Given the description of an element on the screen output the (x, y) to click on. 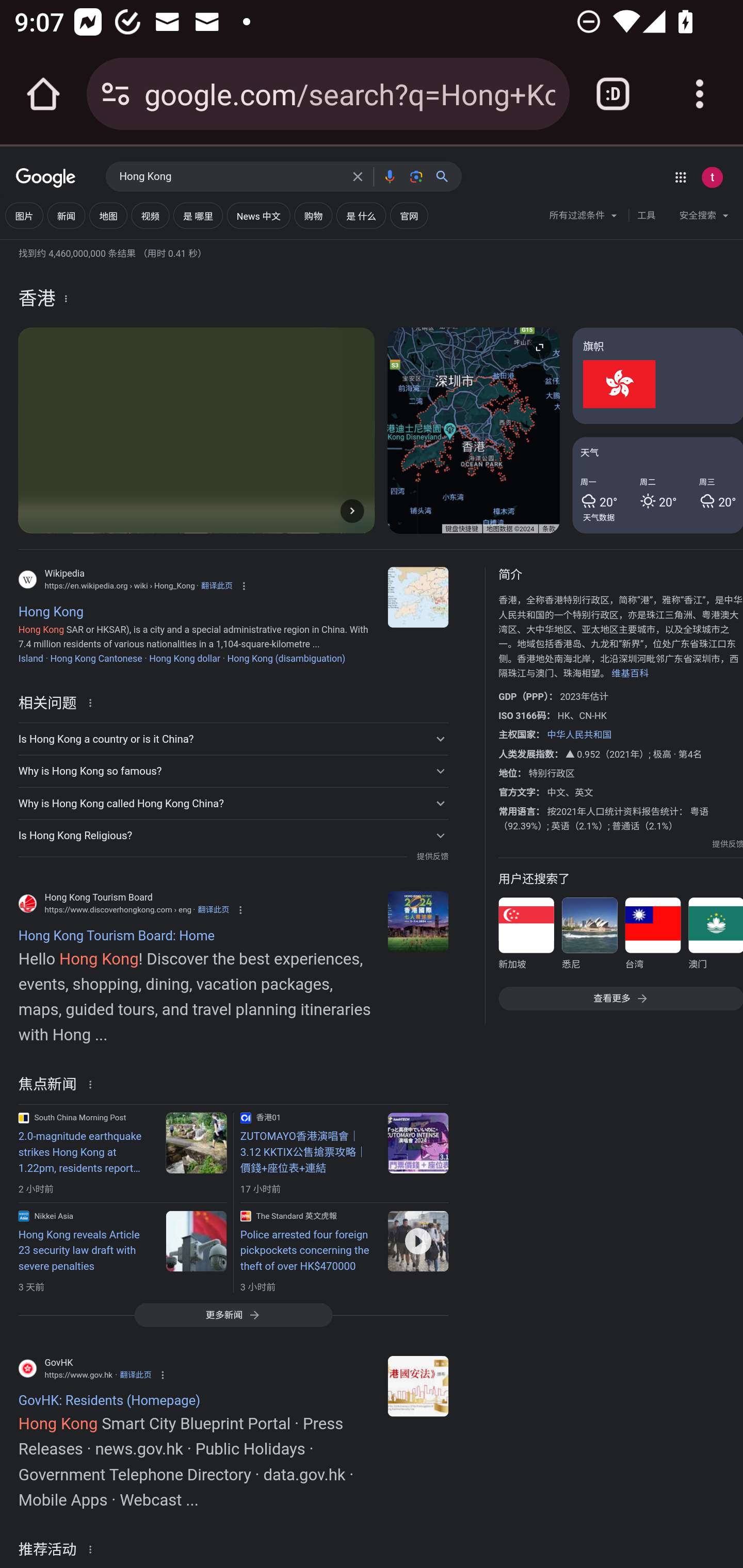
Open the home page (43, 93)
Connection is secure (115, 93)
Switch or close tabs (612, 93)
Customize and control Google Chrome (699, 93)
清除 (357, 176)
按语音搜索 (389, 176)
按图搜索 (415, 176)
搜索 (446, 176)
Google 应用 (680, 176)
Google 账号： test appium (testappium002@gmail.com) (712, 176)
Google (45, 178)
Hong Kong (229, 177)
图片 (24, 215)
新闻 (65, 215)
地图 (107, 215)
视频 (149, 215)
添加“是 哪里” 是 哪里 (197, 215)
添加“News 中文” News 中文 (258, 215)
购物 (313, 215)
添加“是 什么” 是 什么 (360, 215)
添加“官网” 官网 (408, 215)
所有过滤条件 (583, 217)
工具 (646, 215)
安全搜索 (703, 217)
更多选项 (65, 298)
旗帜的图片。 (657, 375)
展开地图 (539, 346)
天气 周一 高温 20 度 周二 高温 20 度 周三 高温 20 度 (657, 484)
下一张图片 (352, 510)
天气数据 (599, 516)
Hong_Kong (417, 597)
翻译此页 (216, 585)
Island (30, 658)
Hong Kong Cantonese (95, 658)
Hong Kong dollar (184, 658)
Hong Kong (disambiguation) (285, 658)
维基百科 (629, 672)
关于这条结果的详细信息 (93, 701)
Is Hong Kong a country or is it China? (232, 738)
中华人民共和国 (579, 734)
Why is Hong Kong so famous? (232, 770)
Why is Hong Kong called Hong Kong China? (232, 803)
Is Hong Kong Religious? (232, 835)
提供反馈 (727, 843)
提供反馈 (432, 856)
index (417, 920)
新加坡 (526, 936)
悉尼 (588, 936)
台湾 (652, 936)
澳门 (715, 936)
翻译此页 (213, 909)
查看更多 查看更多 查看更多 (620, 997)
关于这条结果的详细信息 (93, 1084)
更多新闻 (232, 1314)
www.gov (417, 1385)
翻译此页 (135, 1374)
关于这条结果的详细信息 (93, 1548)
